Given the description of an element on the screen output the (x, y) to click on. 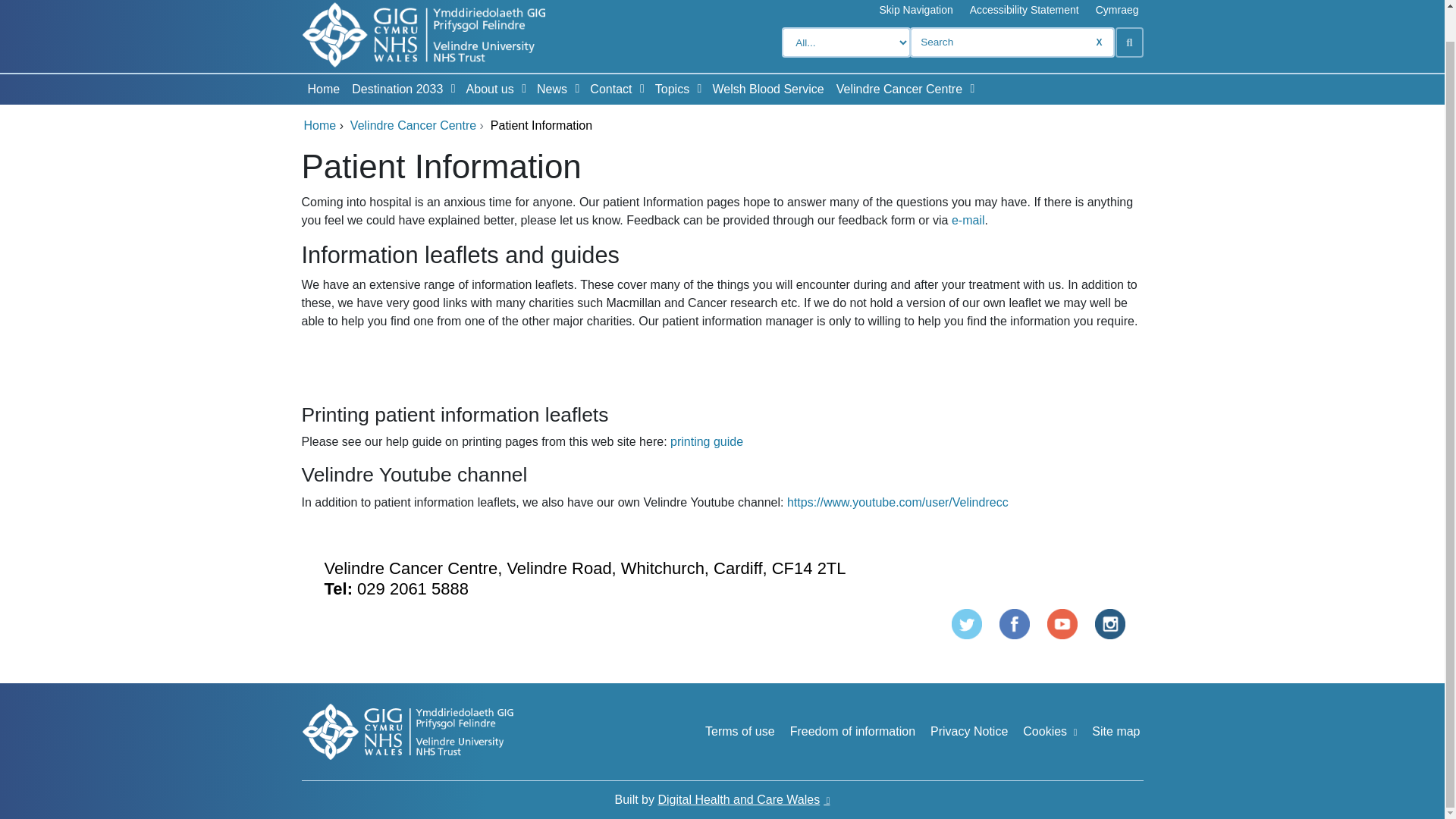
Show Submenu For Contact (641, 88)
Home (323, 89)
Accessibility Statement (1024, 10)
Patient Information (965, 624)
Patient Information (1013, 624)
News (549, 89)
Patient Information (1061, 624)
About us (486, 89)
Show Submenu For News (576, 88)
Contact (607, 89)
Cymraeg (1117, 10)
Search (1128, 42)
Patient Information (1110, 624)
Destination 2033 (394, 89)
Show Submenu For Destination 2033 (453, 88)
